Given the description of an element on the screen output the (x, y) to click on. 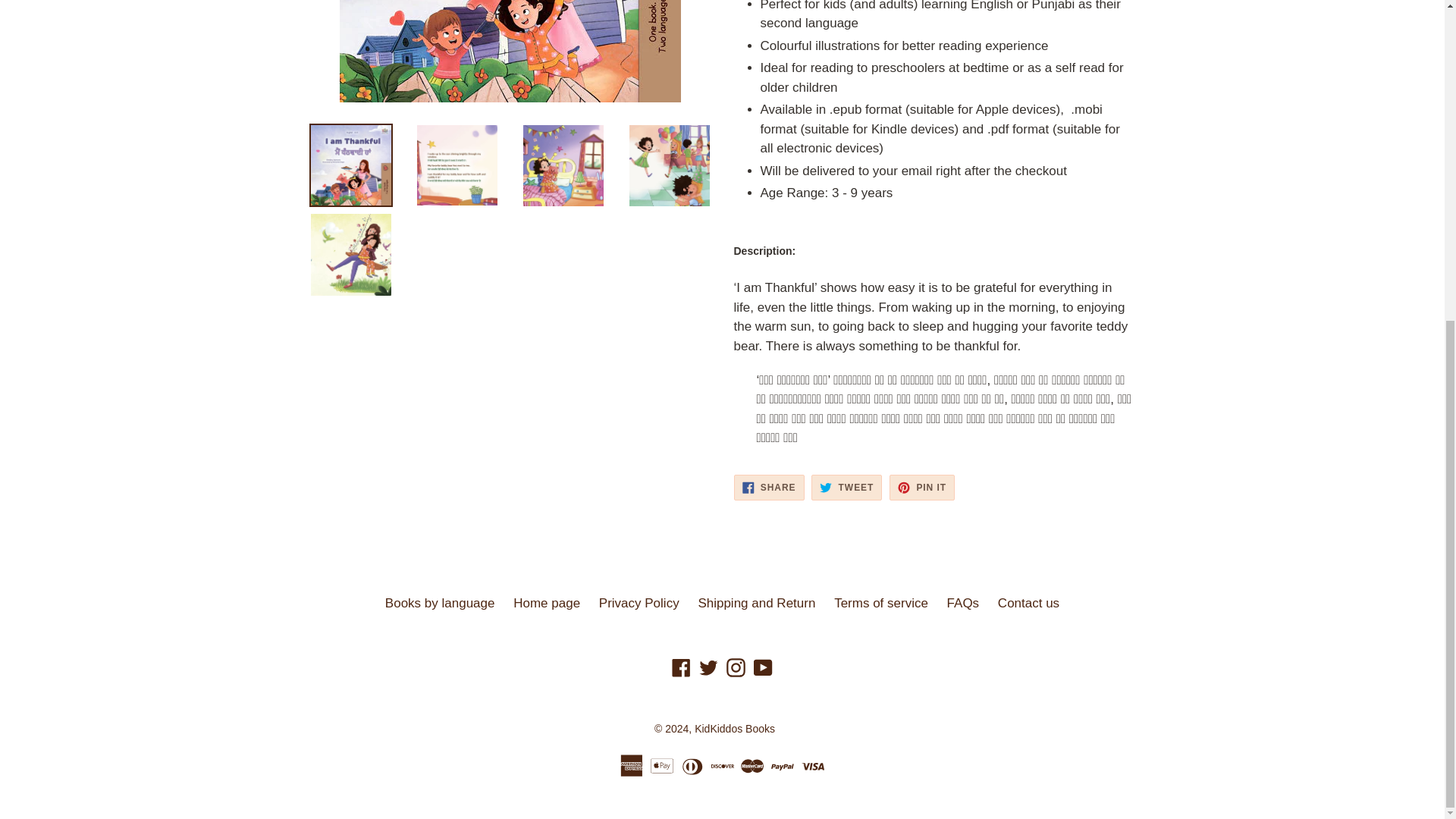
KidKiddos Books  on Instagram (735, 667)
KidKiddos Books  on Twitter (708, 667)
Share on Facebook (769, 487)
KidKiddos Books  on Facebook (681, 667)
Tweet on Twitter (846, 487)
KidKiddos Books  on YouTube (762, 667)
Pin on Pinterest (922, 487)
